Given the description of an element on the screen output the (x, y) to click on. 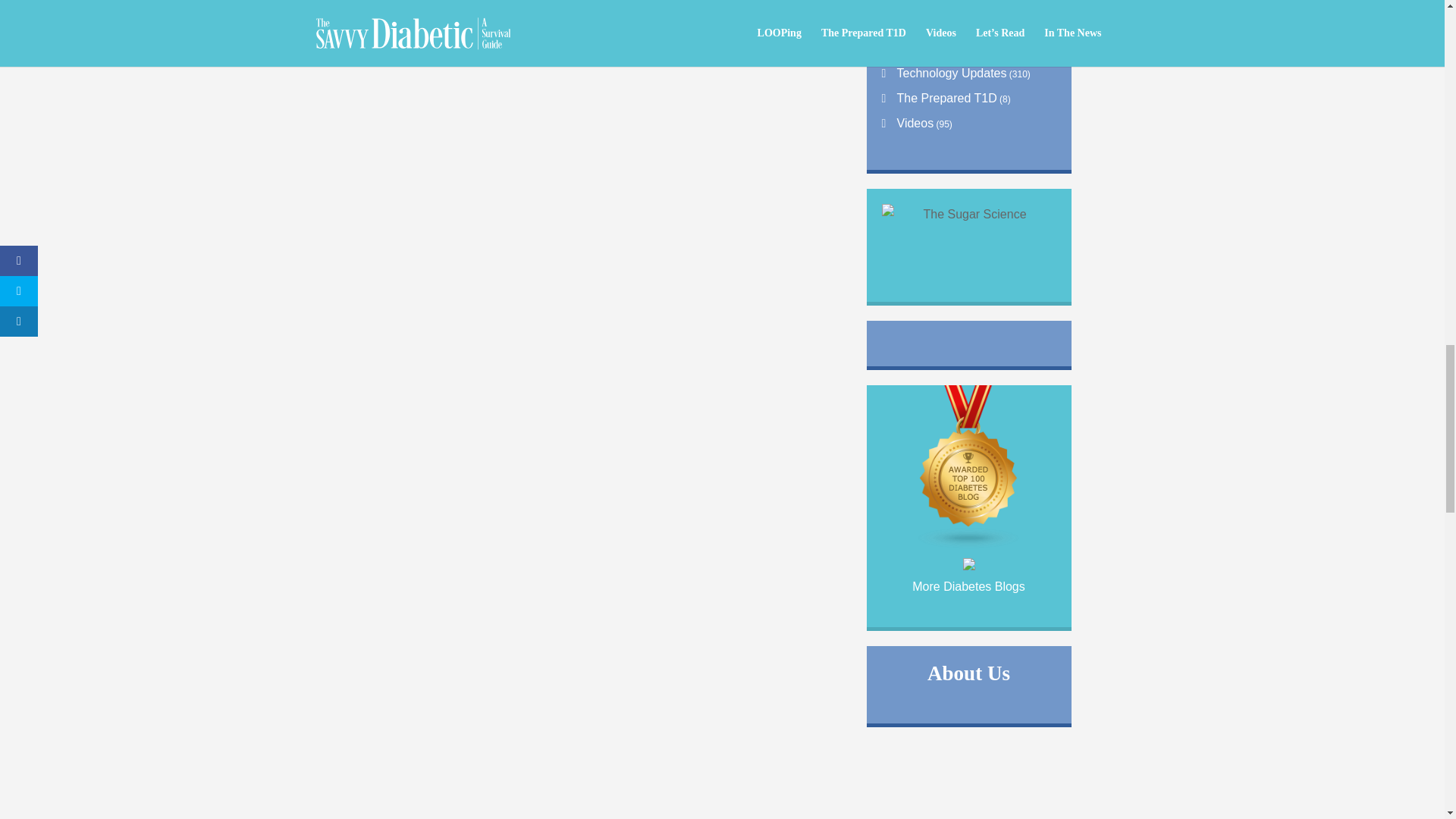
The Sugar Science (967, 226)
HomeRemediesForLife.com Best Blog 2017 (968, 565)
Diabetes blogs (968, 544)
